Given the description of an element on the screen output the (x, y) to click on. 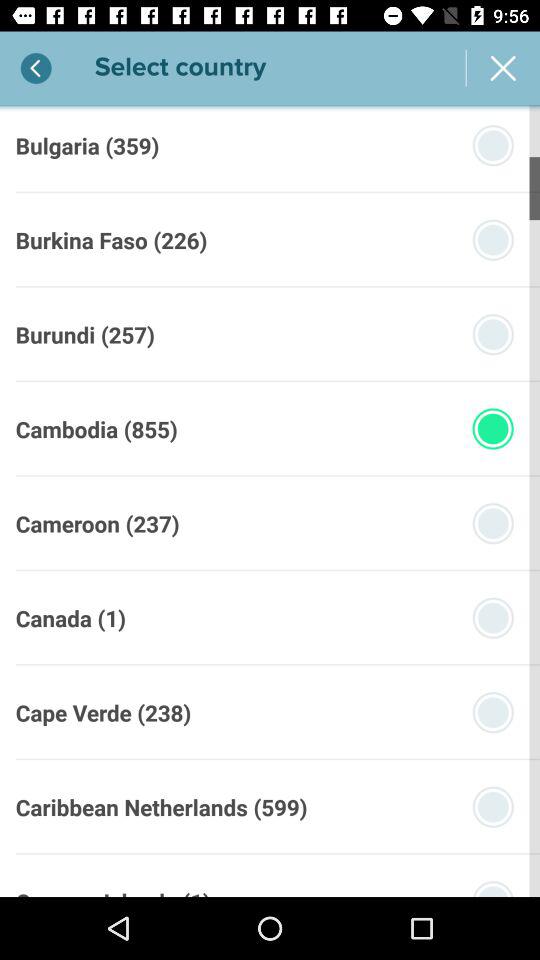
go to previous (36, 67)
